Given the description of an element on the screen output the (x, y) to click on. 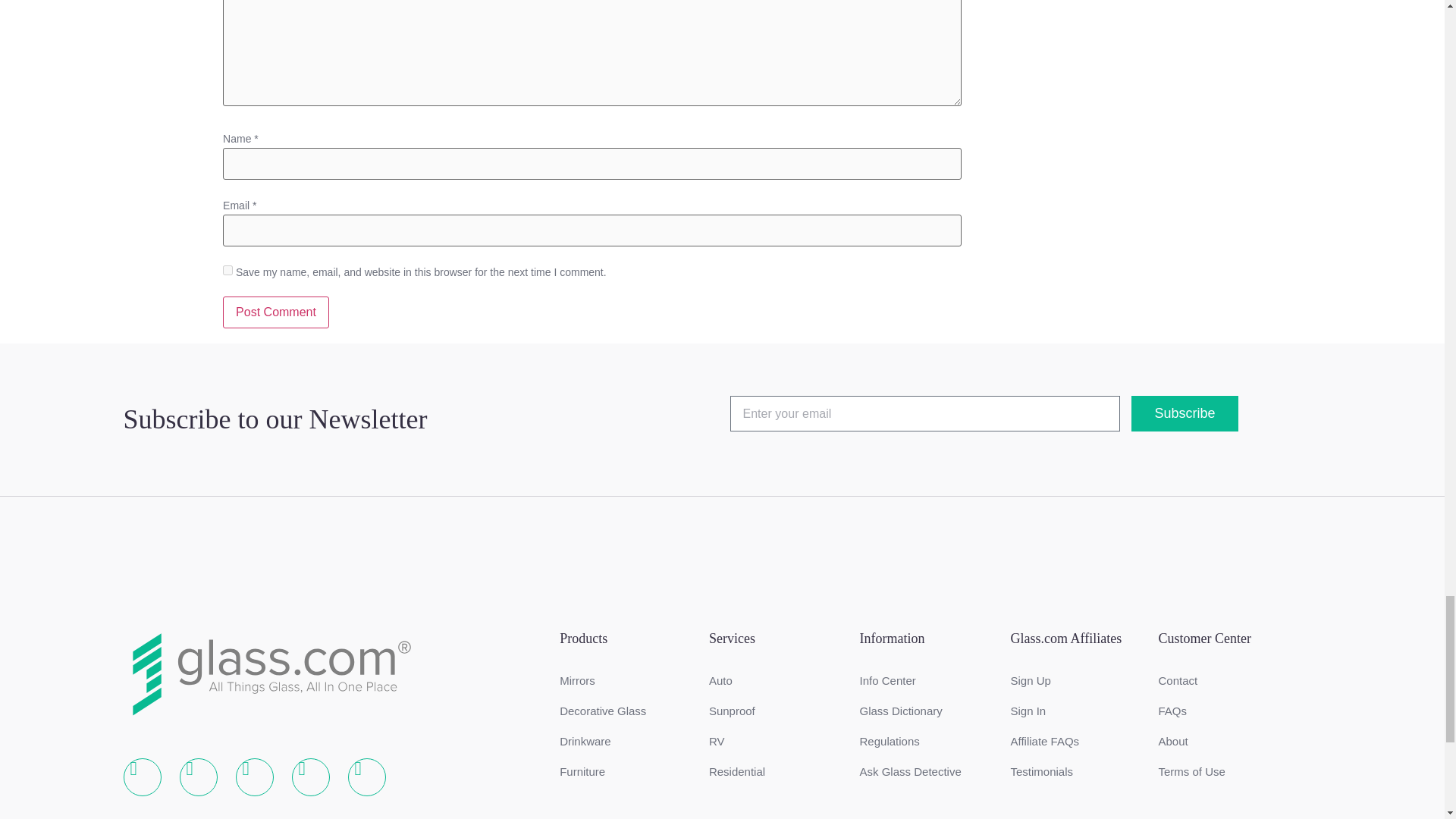
yes (227, 270)
Post Comment (275, 312)
Post Comment (275, 312)
